Given the description of an element on the screen output the (x, y) to click on. 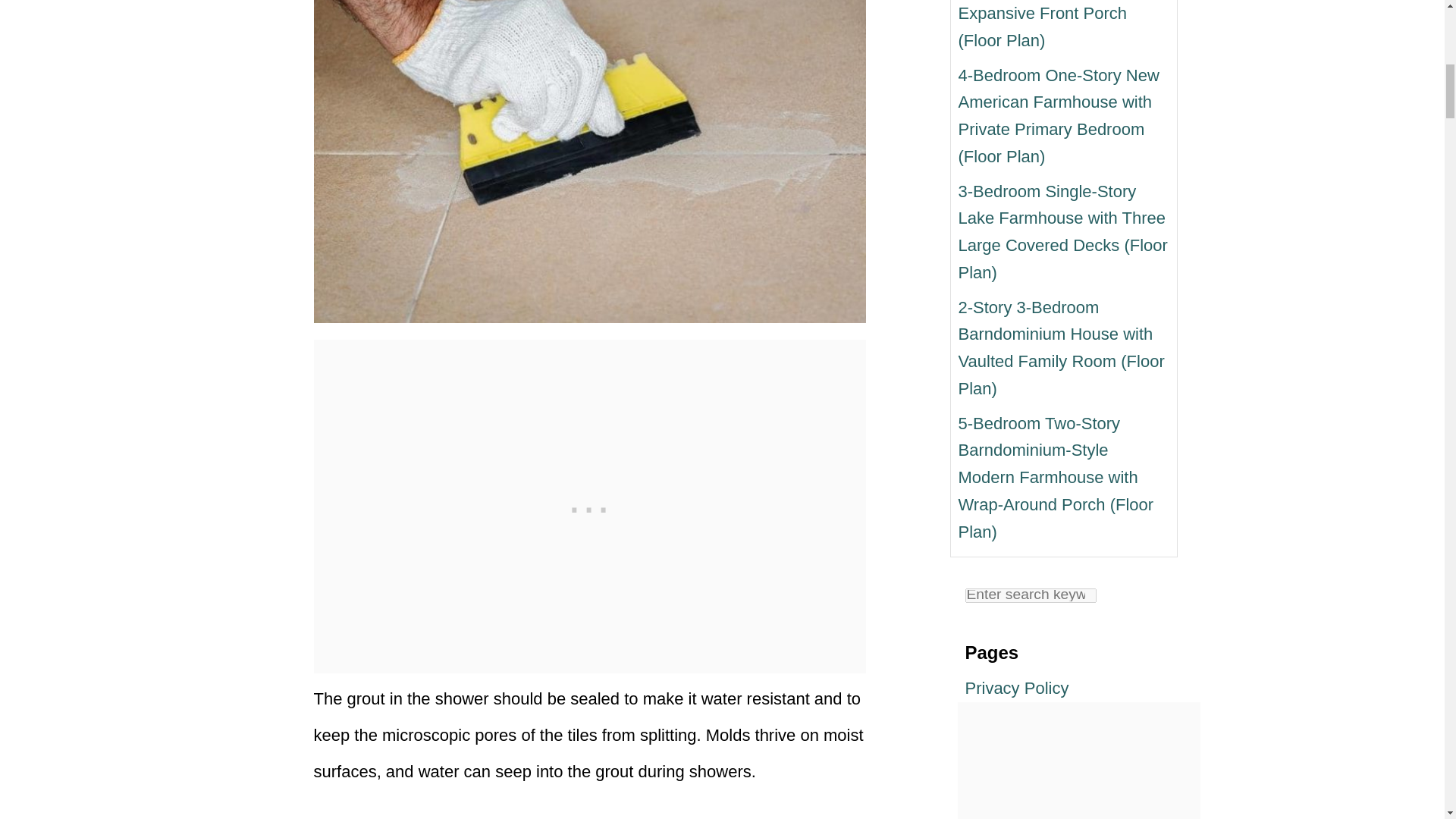
Privacy Policy (1015, 687)
Search for: (1029, 595)
